Given the description of an element on the screen output the (x, y) to click on. 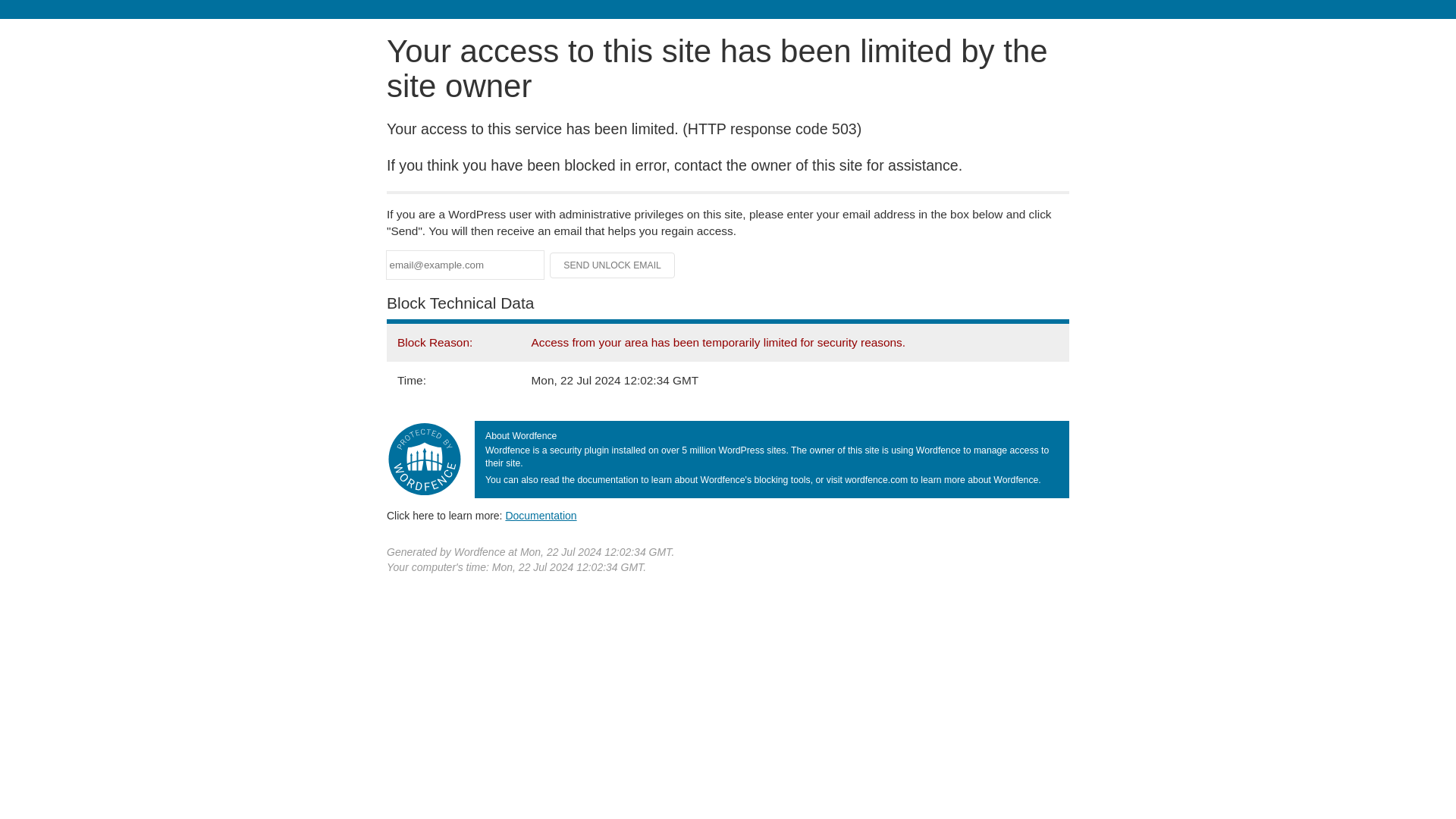
Send Unlock Email (612, 265)
Documentation (540, 515)
Send Unlock Email (612, 265)
